Given the description of an element on the screen output the (x, y) to click on. 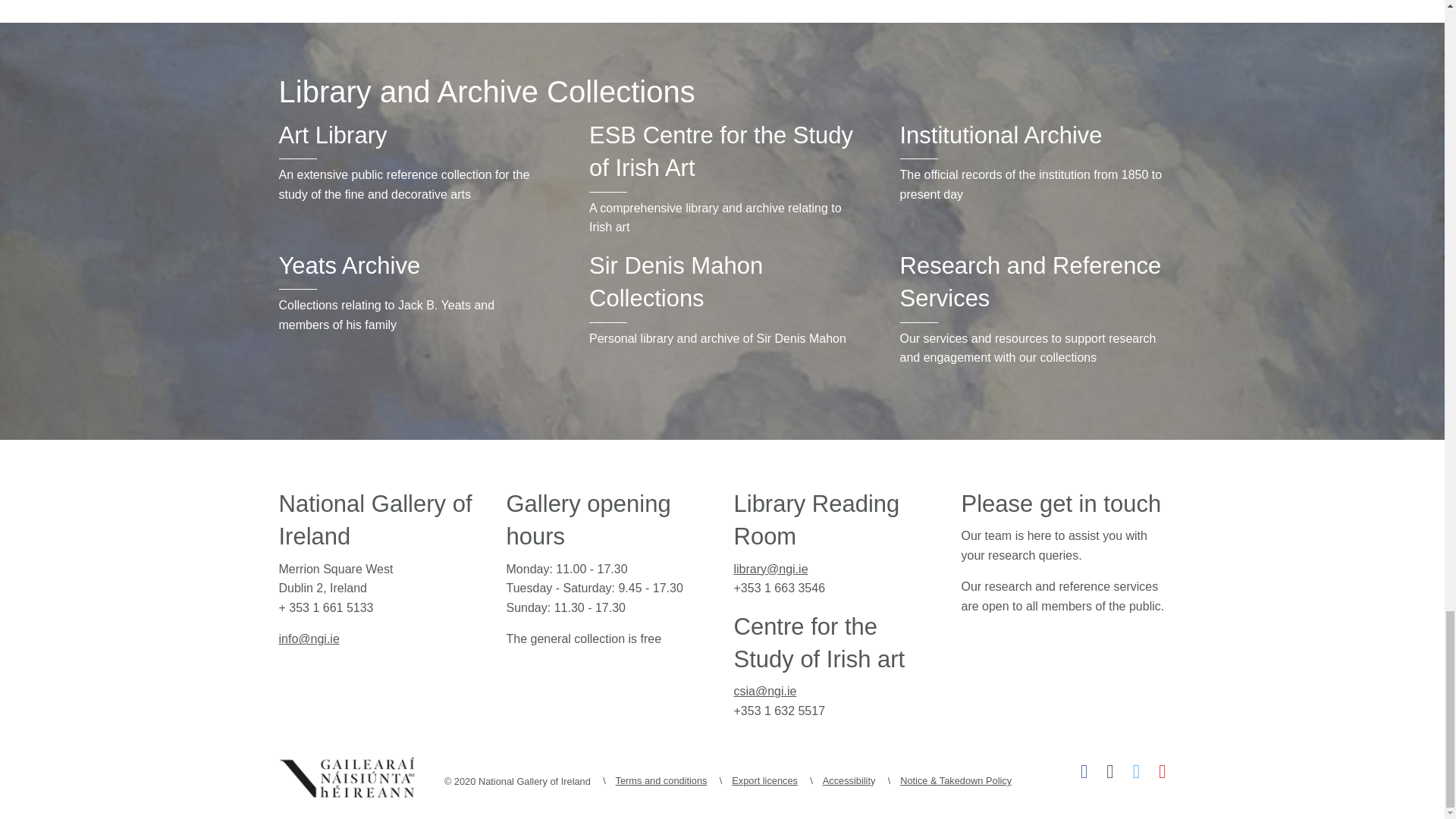
Accessibilit (411, 138)
